Given the description of an element on the screen output the (x, y) to click on. 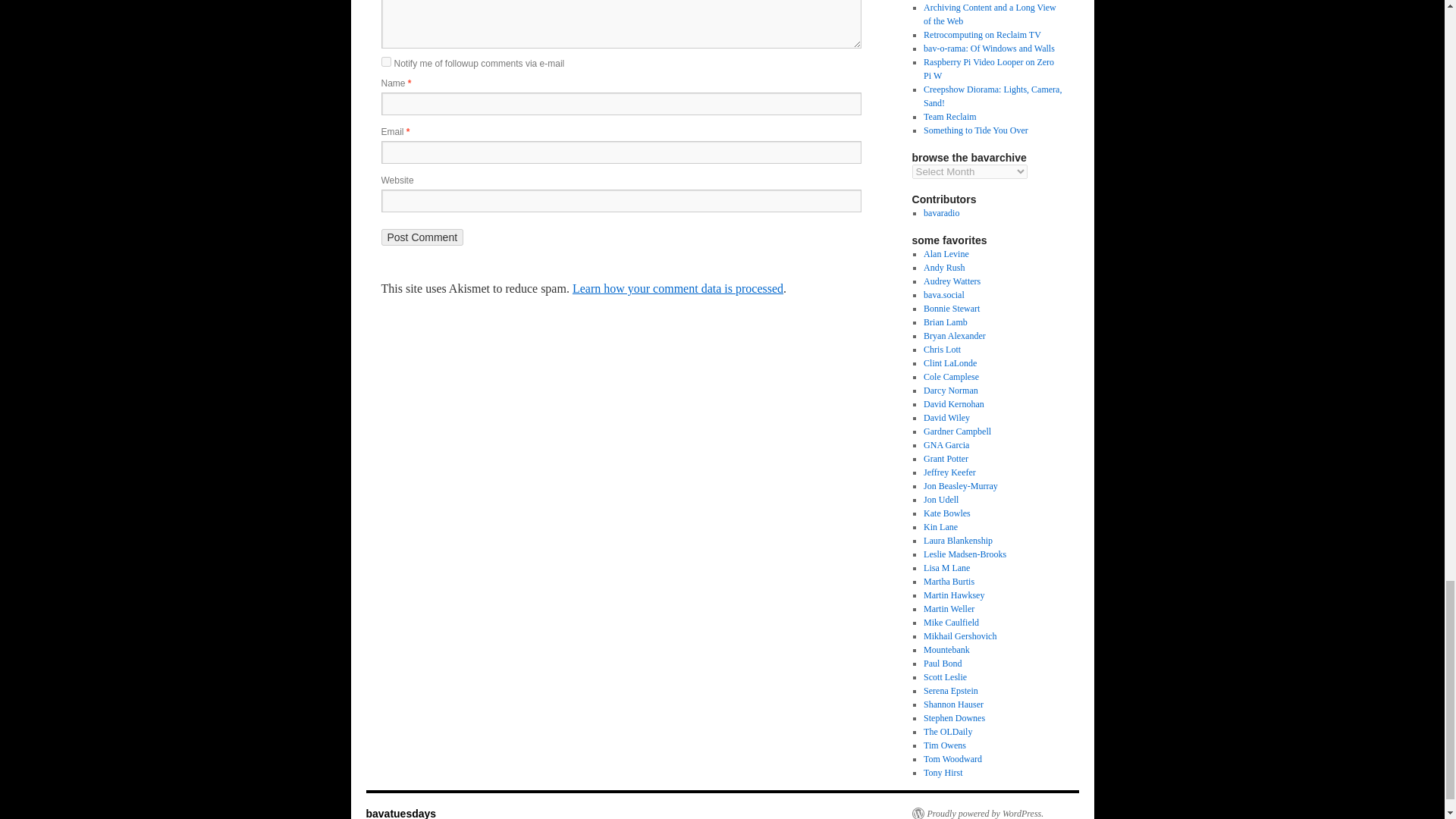
Post Comment (421, 237)
subscribe (385, 61)
bava on the radio (941, 213)
Lauren Blankenship lays it down (957, 540)
